Given the description of an element on the screen output the (x, y) to click on. 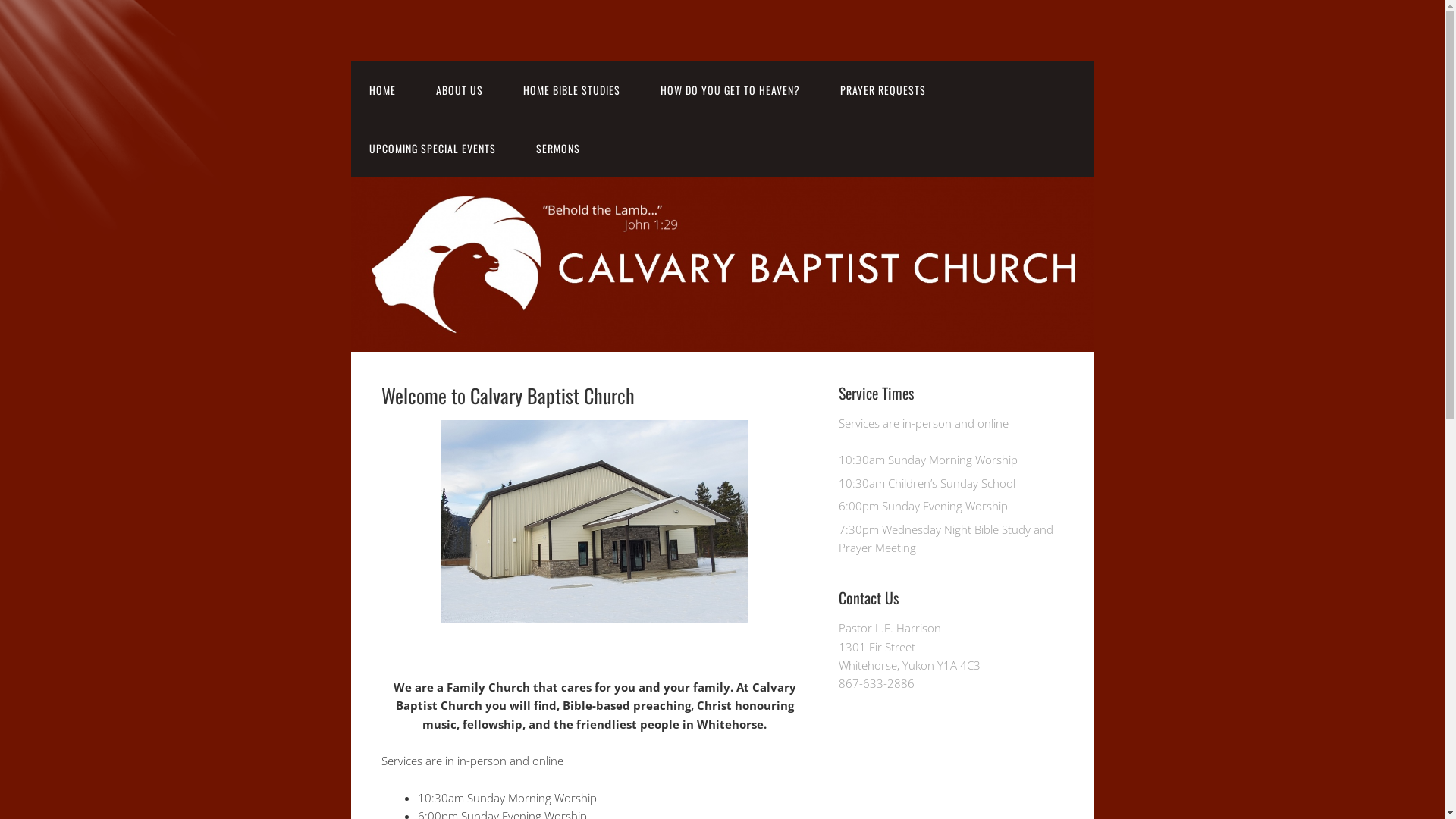
ABOUT US Element type: text (458, 89)
UPCOMING SPECIAL EVENTS Element type: text (431, 148)
HOME Element type: text (381, 89)
SERMONS Element type: text (557, 148)
HOW DO YOU GET TO HEAVEN? Element type: text (729, 89)
HOME BIBLE STUDIES Element type: text (571, 89)
PRAYER REQUESTS Element type: text (883, 89)
